Given the description of an element on the screen output the (x, y) to click on. 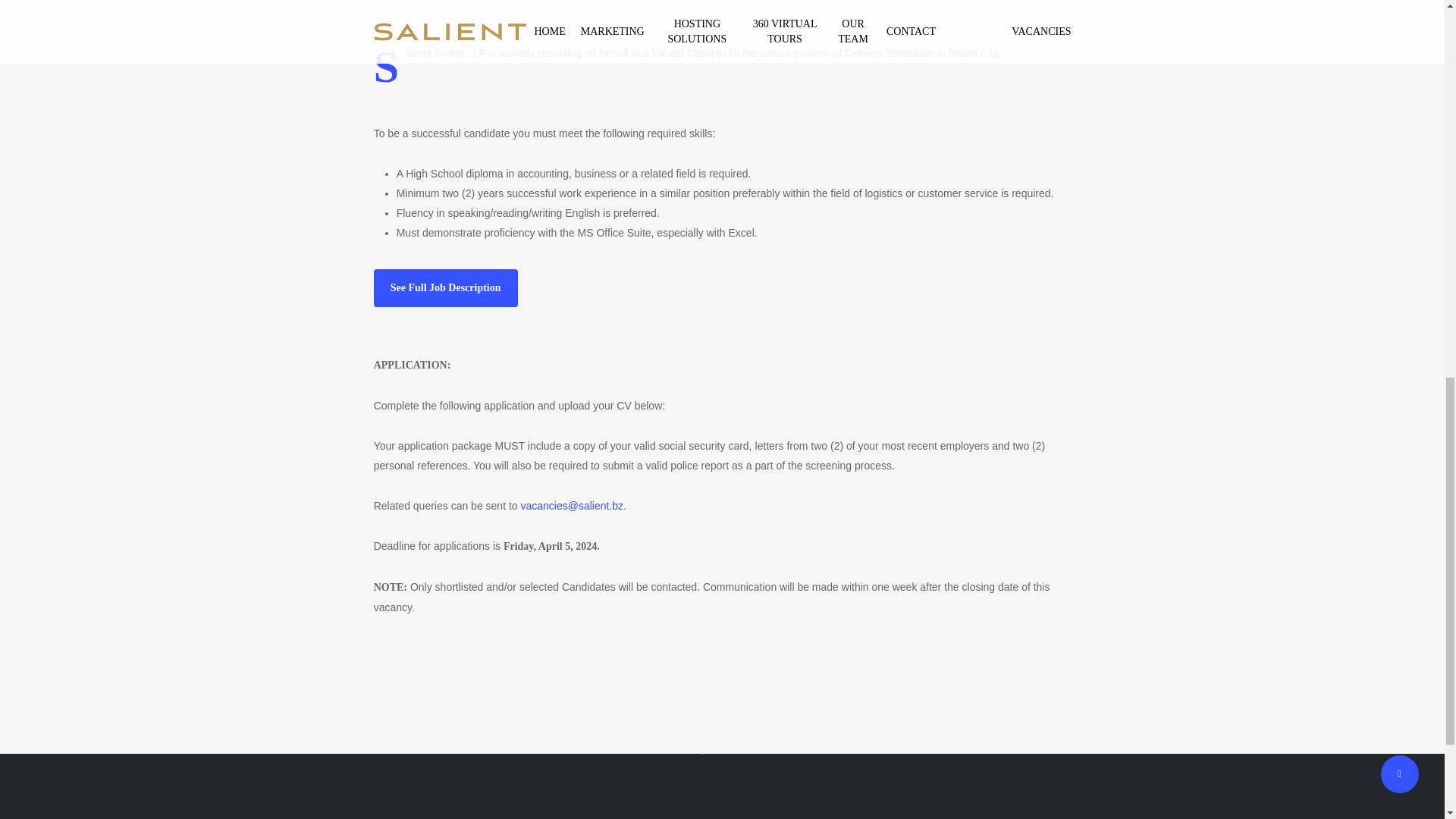
See Full Job Description (446, 288)
